Given the description of an element on the screen output the (x, y) to click on. 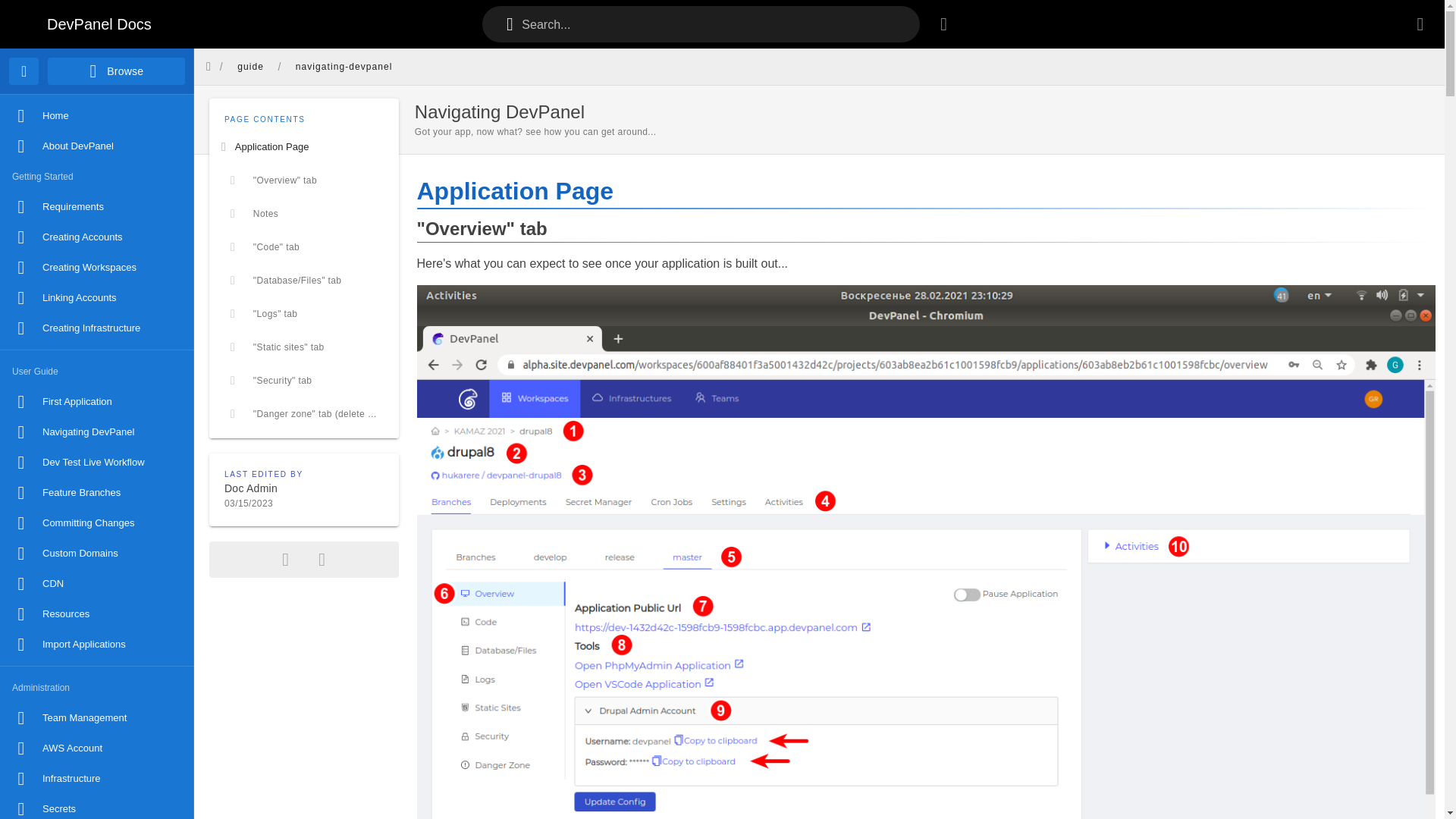
Committing Changes (96, 522)
Infrastructure (96, 778)
CDN (96, 583)
Secrets (96, 806)
Resources (96, 613)
Feature Branches (96, 492)
Requirements (96, 206)
Linking Accounts (96, 297)
Creating Infrastructure (96, 327)
AWS Account (96, 748)
